Given the description of an element on the screen output the (x, y) to click on. 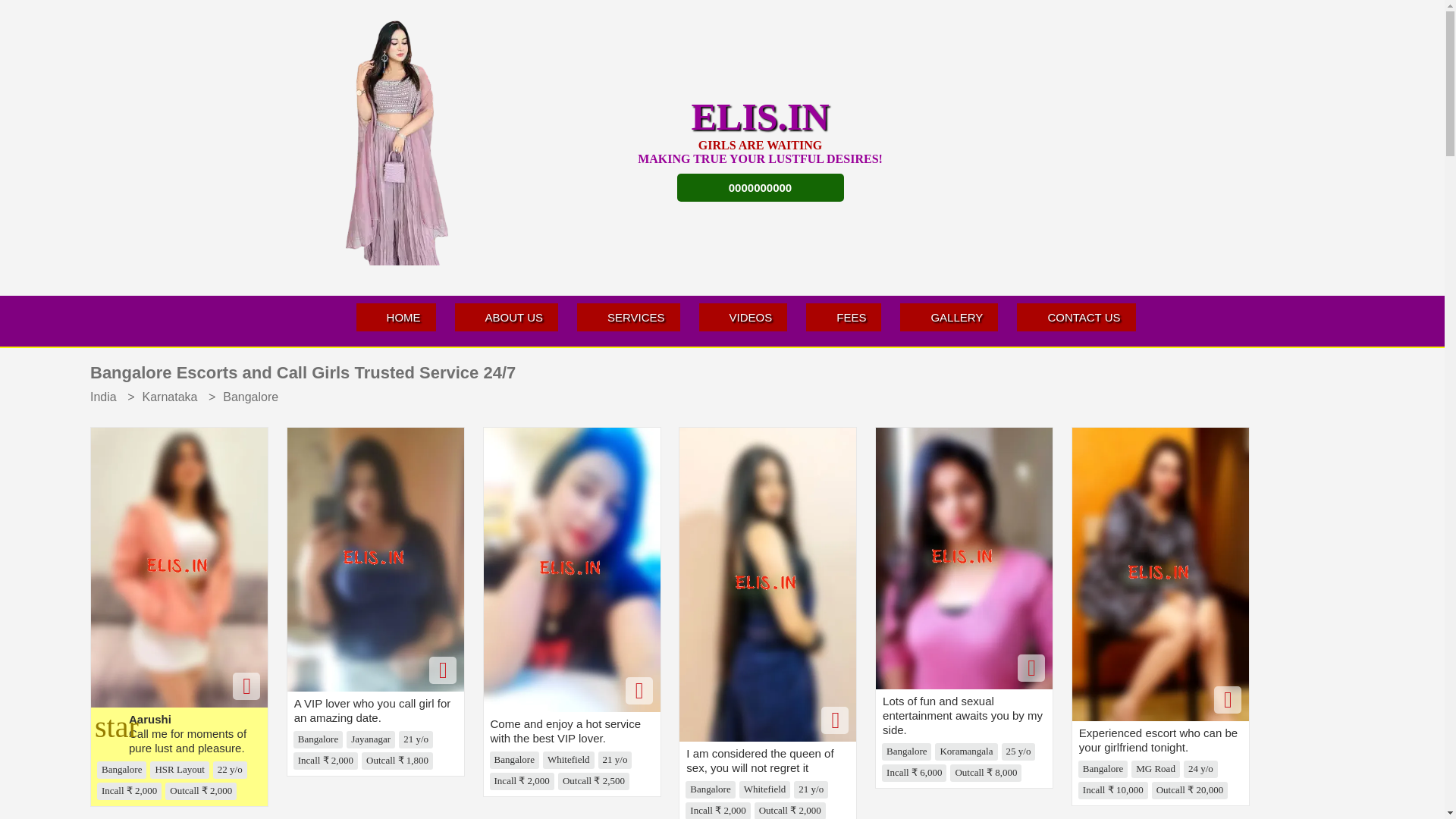
GALLERY (948, 317)
ABOUT US (505, 317)
HOME (395, 317)
0000000000 (760, 186)
Gallery (948, 317)
Fees (843, 317)
India (106, 396)
CONTACT US (1075, 317)
Bangalore (250, 396)
About Us (505, 317)
SERVICES (627, 317)
Services (627, 317)
FEES (843, 317)
Karnataka (170, 396)
VIDEOS (742, 317)
